Given the description of an element on the screen output the (x, y) to click on. 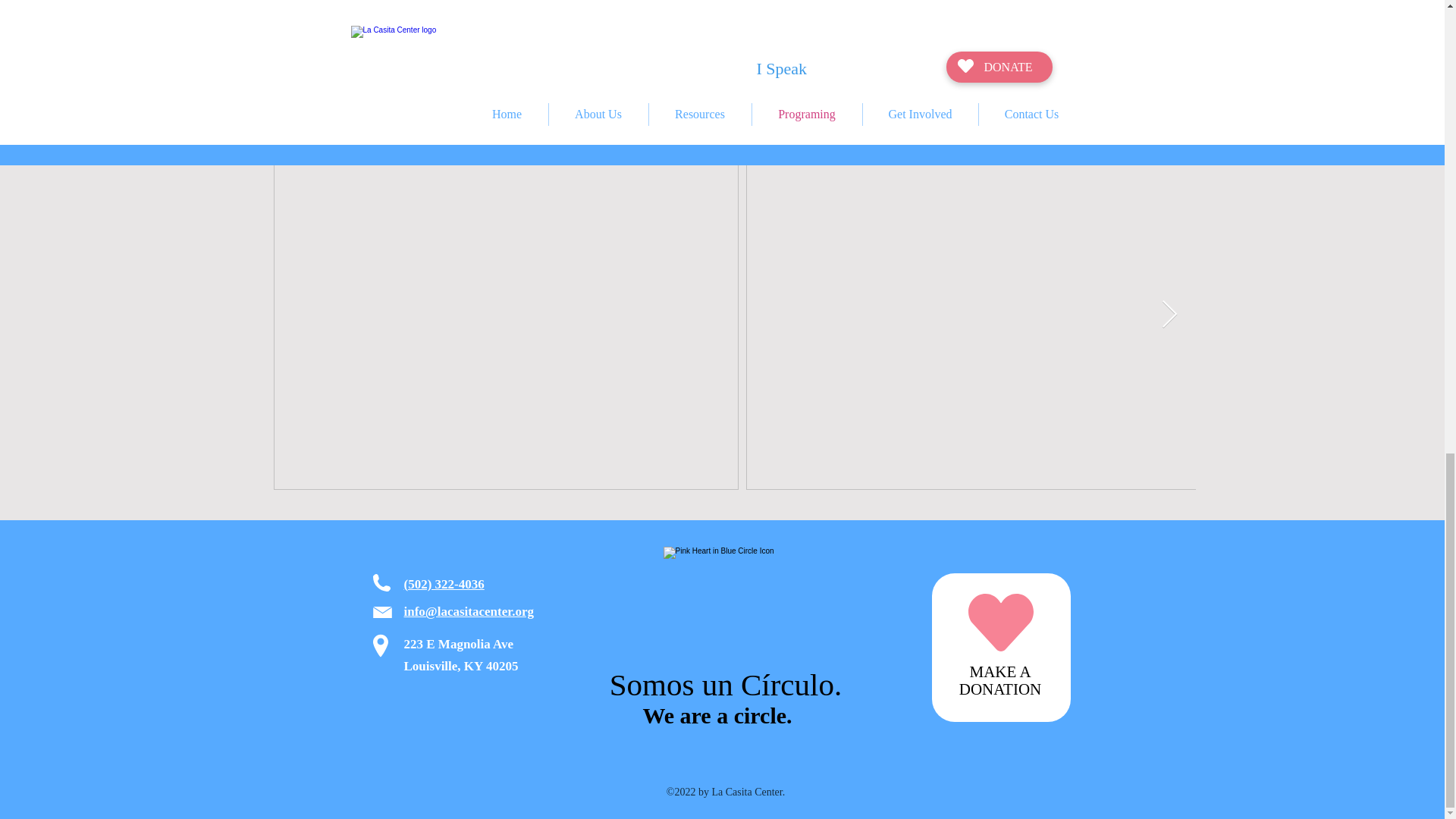
Somos un Circulo (720, 604)
Go to Page (439, 8)
